Given the description of an element on the screen output the (x, y) to click on. 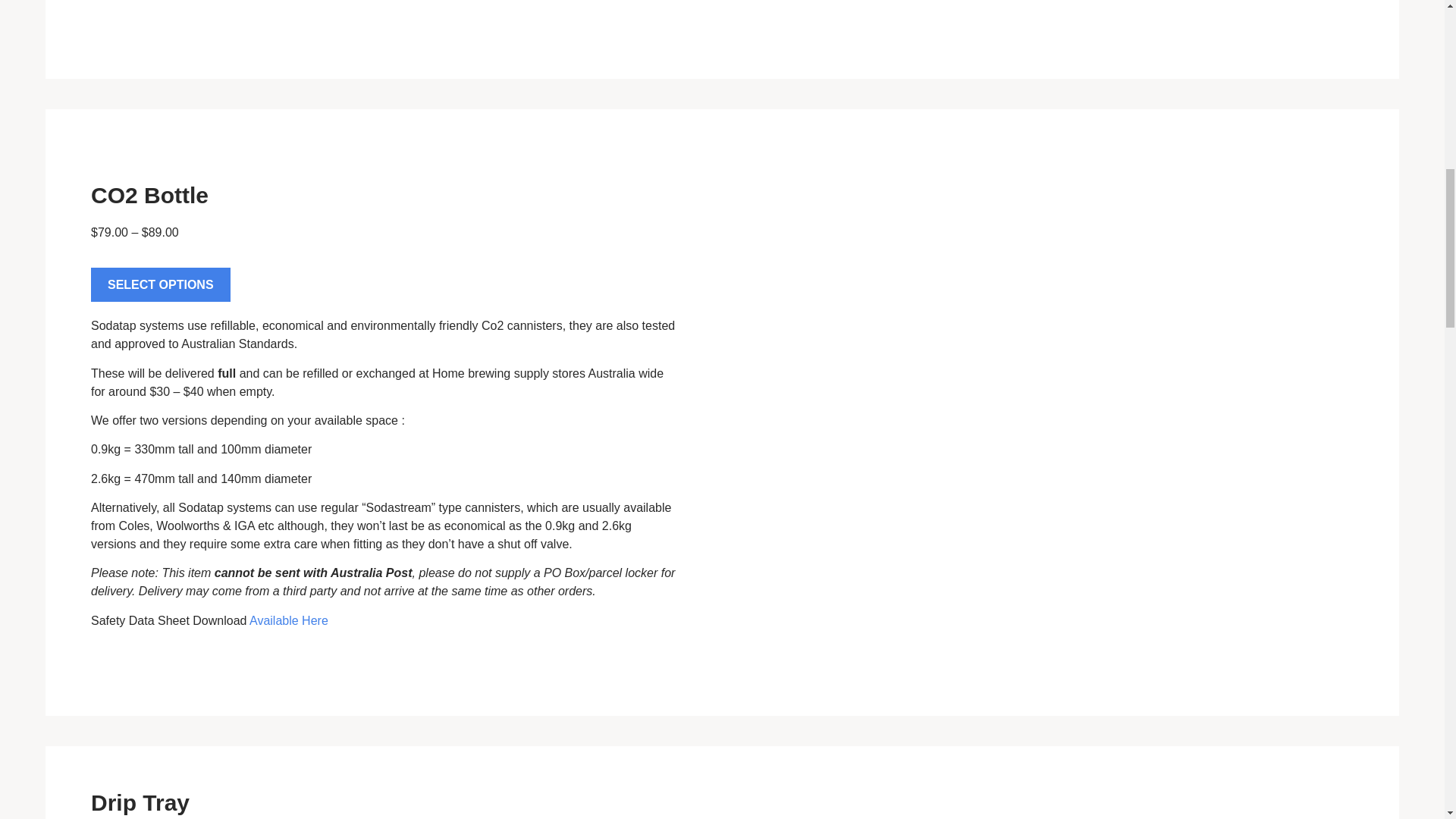
CO2 Bottle (149, 195)
Available Here (288, 620)
Drip Tray (139, 802)
SELECT OPTIONS (160, 284)
